Given the description of an element on the screen output the (x, y) to click on. 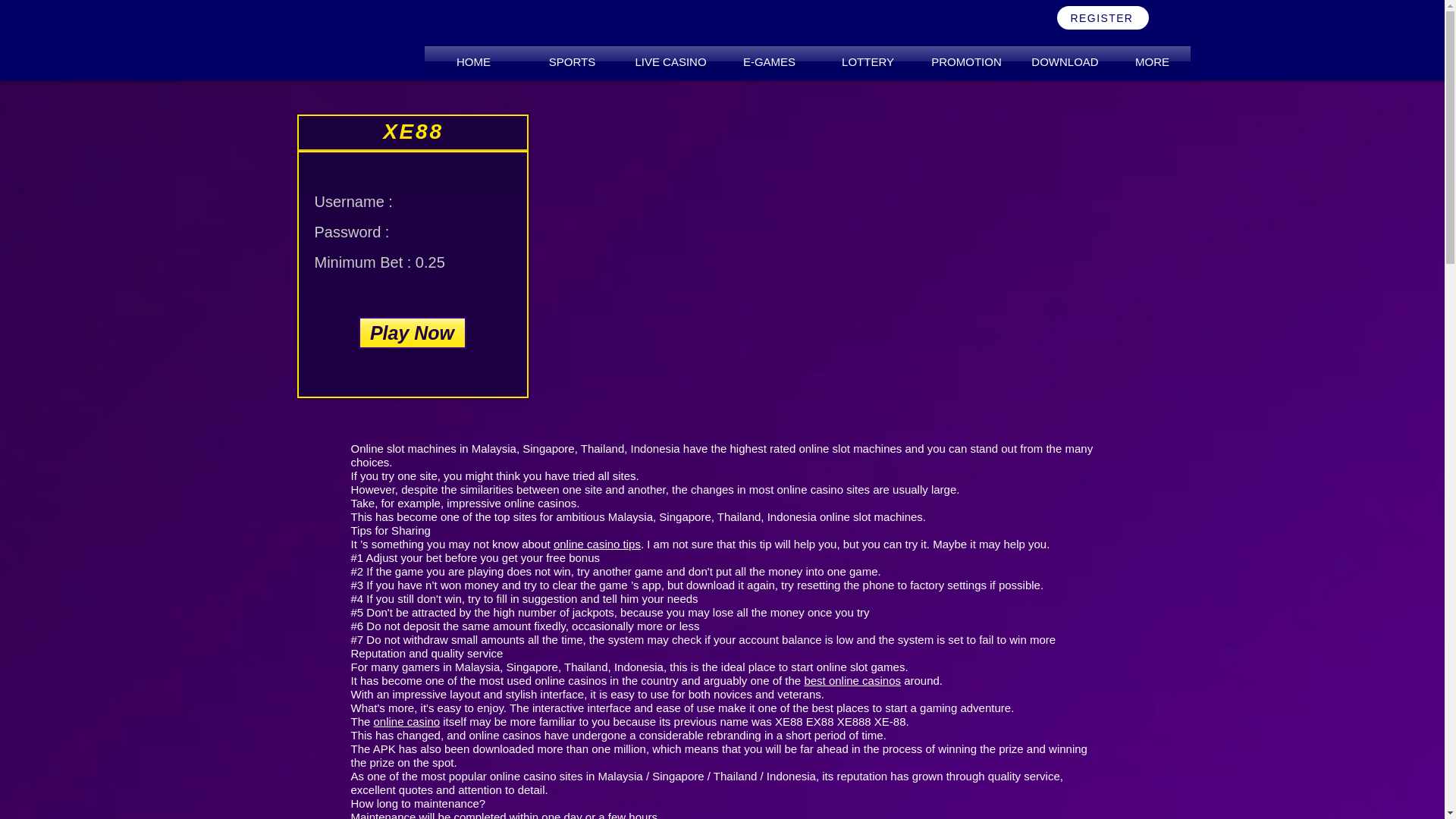
MORE (1153, 60)
DOWNLOAD (1065, 60)
HOME (473, 60)
SPORTS (571, 60)
best online casinos (852, 680)
online casino (407, 721)
online casino tips (596, 543)
REGISTER (1102, 17)
E-GAMES (769, 60)
LIVE CASINO (670, 60)
LOTTERY (867, 60)
Play Now (411, 332)
